Given the description of an element on the screen output the (x, y) to click on. 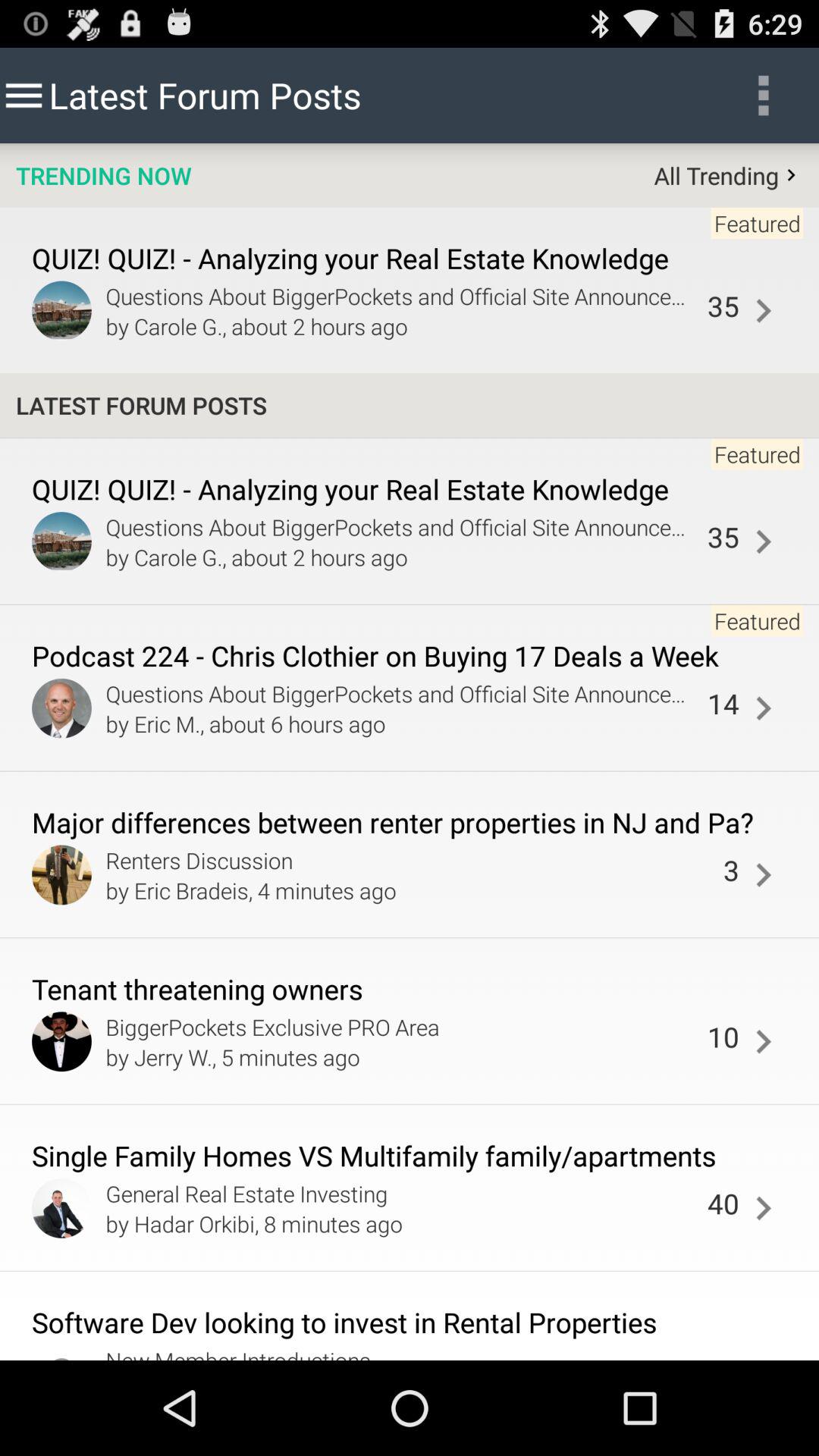
open app above quiz quiz analyzing item (103, 175)
